Given the description of an element on the screen output the (x, y) to click on. 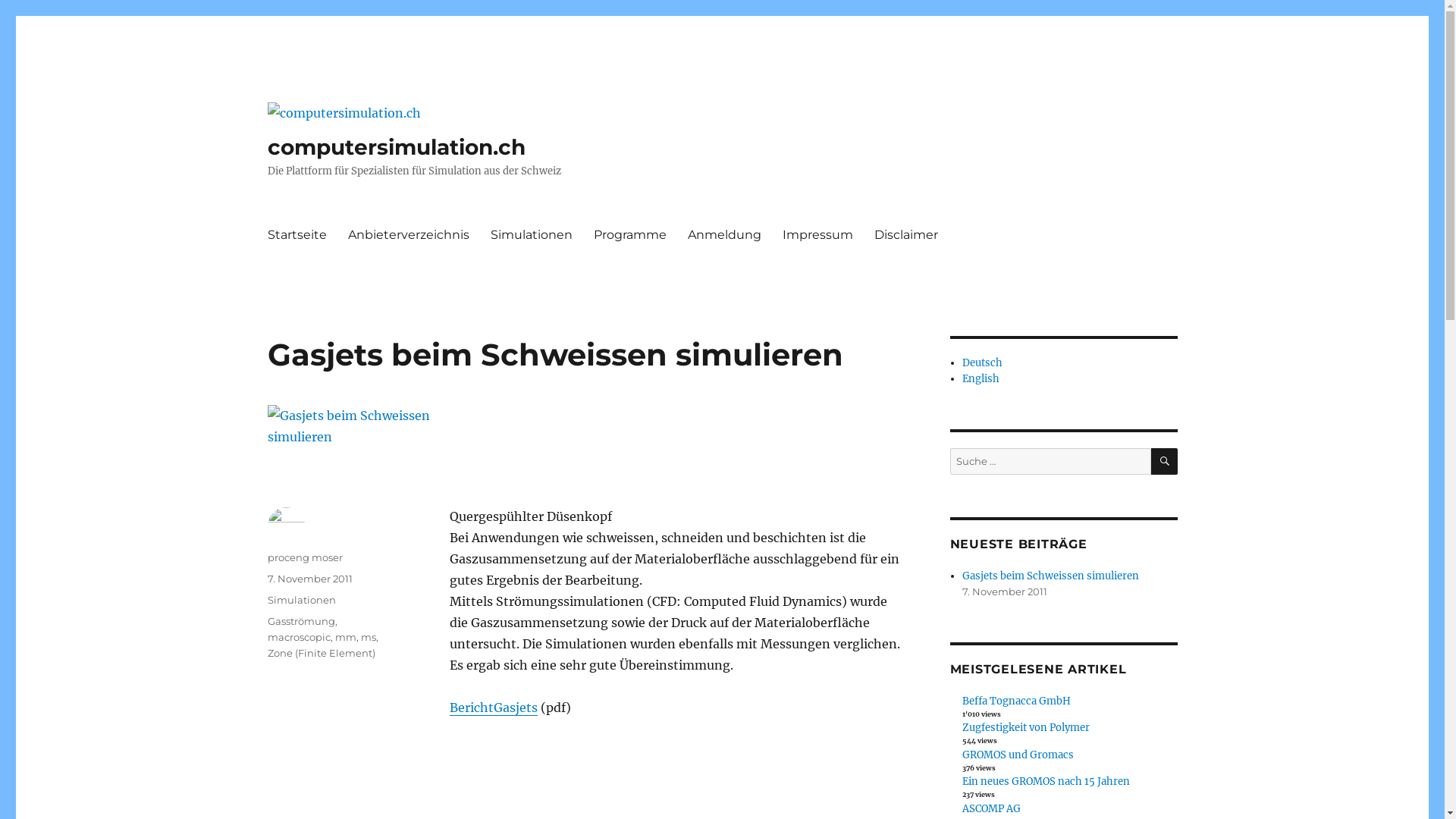
7. November 2011 Element type: text (308, 578)
Simulationen Element type: text (300, 599)
proceng moser Element type: text (304, 557)
ms Element type: text (368, 636)
Simulationen Element type: text (530, 235)
Beffa Tognacca GmbH Element type: text (1016, 700)
Zone (Finite Element) Element type: text (320, 652)
Impressum Element type: text (817, 235)
Gasjets beim Schweissen simulieren Element type: text (1050, 575)
mm Element type: text (345, 636)
English Element type: text (980, 378)
computersimulation.ch Element type: text (395, 147)
Ein neues GROMOS nach 15 Jahren Element type: text (1045, 781)
Programme Element type: text (629, 235)
Anbieterverzeichnis Element type: text (407, 235)
Anmeldung Element type: text (723, 235)
Disclaimer Element type: text (904, 235)
macroscopic Element type: text (297, 636)
SUCHE Element type: text (1164, 461)
Startseite Element type: text (296, 235)
Zugfestigkeit von Polymer Element type: text (1025, 727)
ASCOMP AG Element type: text (991, 808)
BerichtGasjets Element type: text (492, 707)
GROMOS und Gromacs Element type: text (1017, 754)
Deutsch Element type: text (982, 362)
Gasjets beim Schweissen simulieren Element type: text (554, 354)
